Given the description of an element on the screen output the (x, y) to click on. 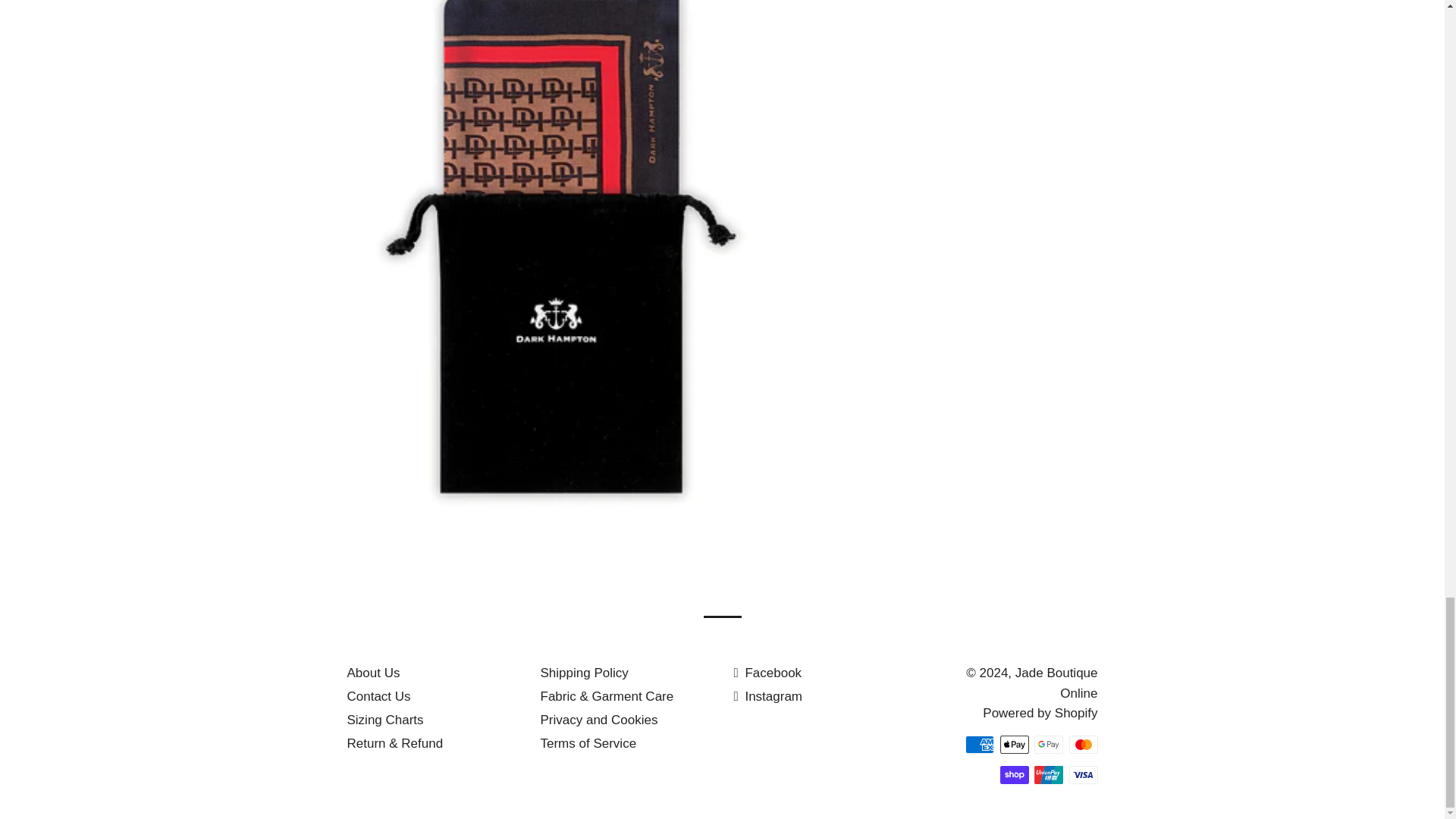
Visa (1082, 774)
Jade Boutique Online on Facebook (767, 672)
Union Pay (1047, 774)
Mastercard (1082, 744)
Apple Pay (1012, 744)
American Express (979, 744)
Jade Boutique Online on Instagram (768, 696)
Google Pay (1047, 744)
Shop Pay (1012, 774)
